Given the description of an element on the screen output the (x, y) to click on. 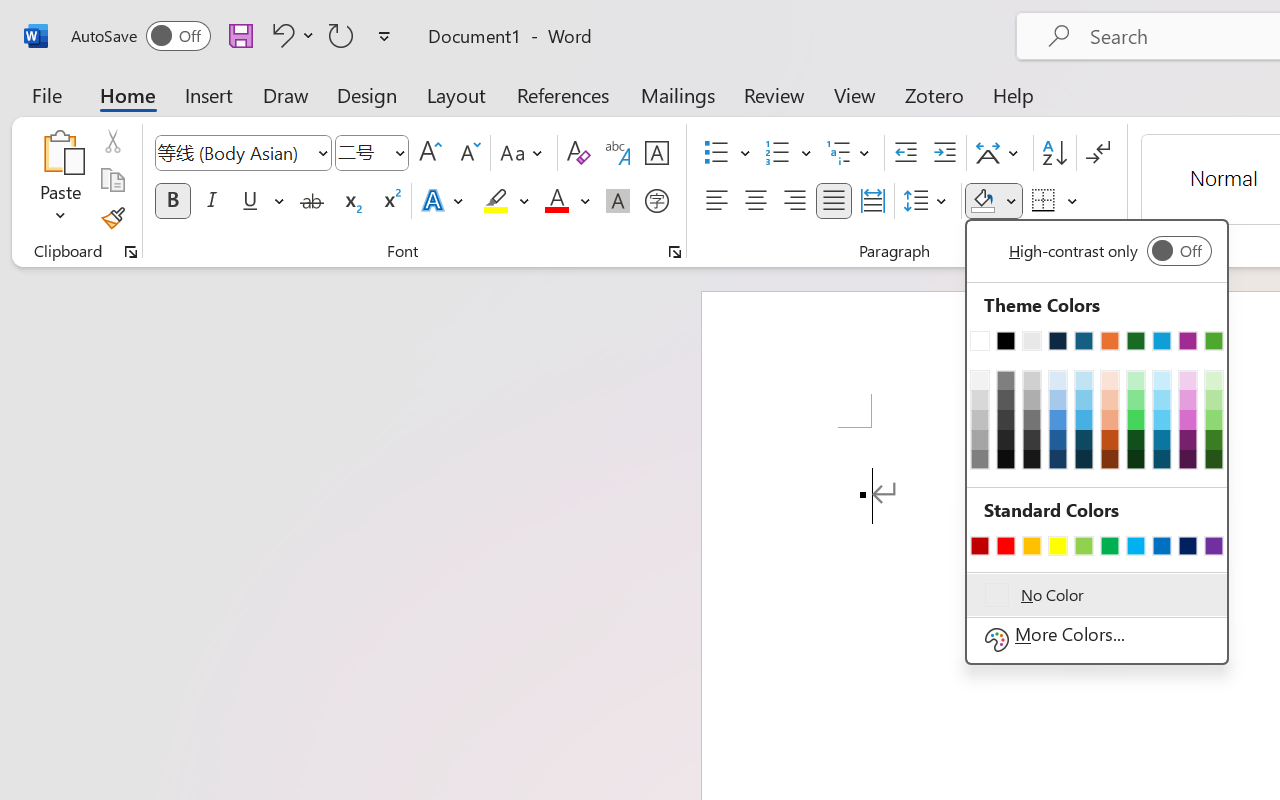
Undo Apply Quick Style (290, 35)
